Given the description of an element on the screen output the (x, y) to click on. 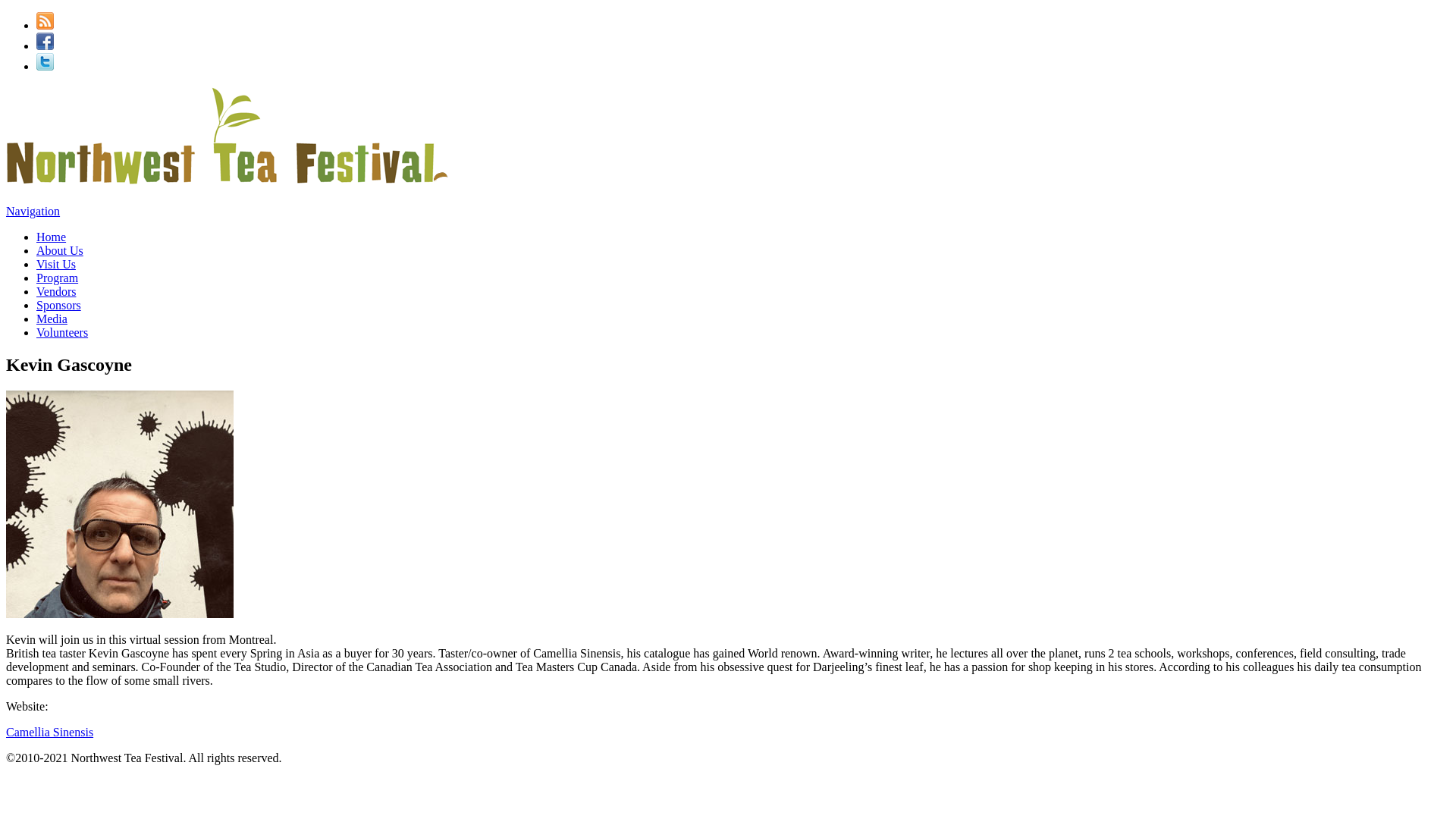
Navigation (32, 210)
Home (50, 236)
Media (51, 318)
About Us (59, 250)
Program (57, 277)
Volunteers (61, 332)
Sponsors (58, 305)
Vendors (55, 291)
Home (226, 181)
Visit Us (55, 264)
